Given the description of an element on the screen output the (x, y) to click on. 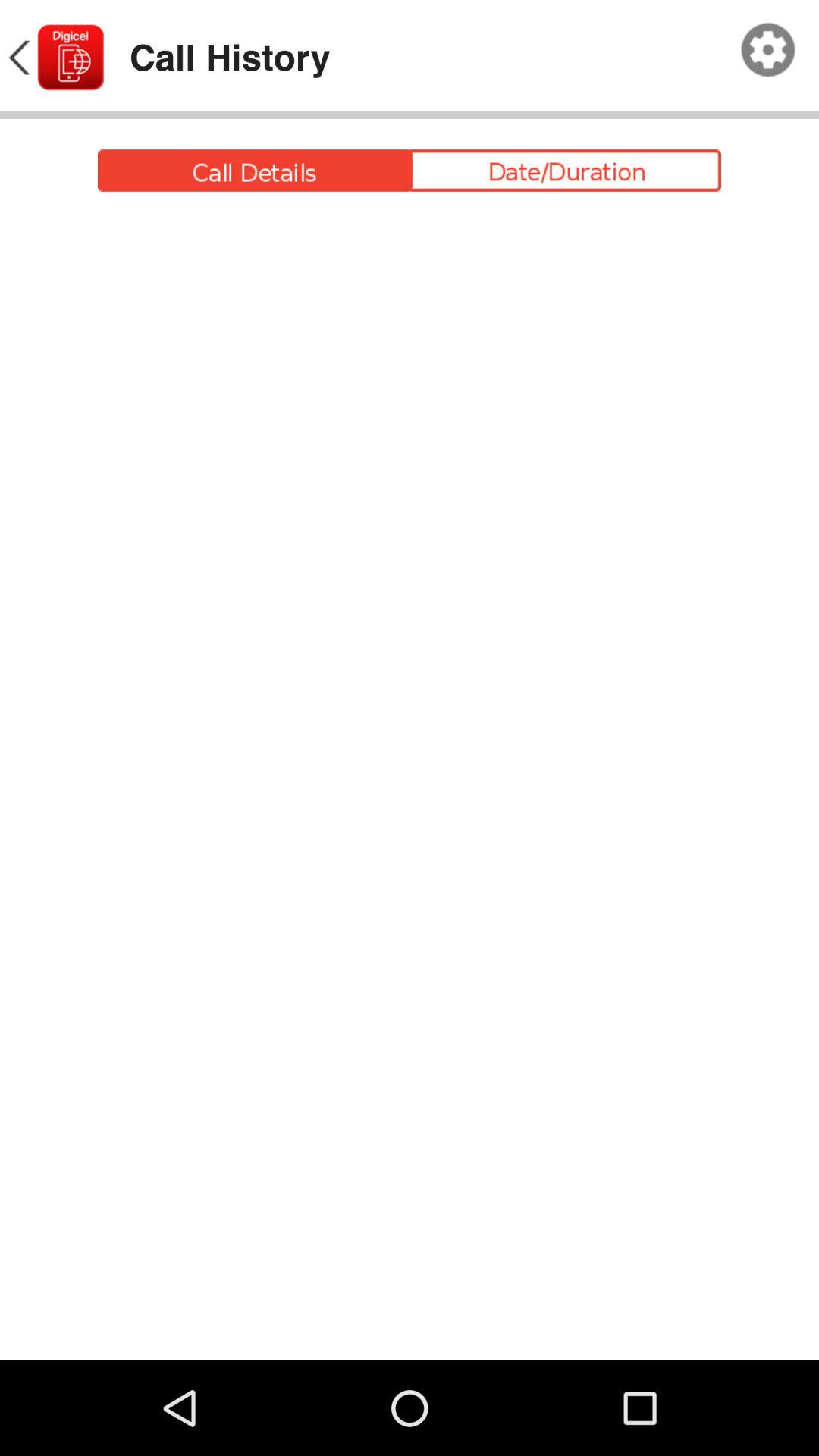
settings (768, 49)
